Given the description of an element on the screen output the (x, y) to click on. 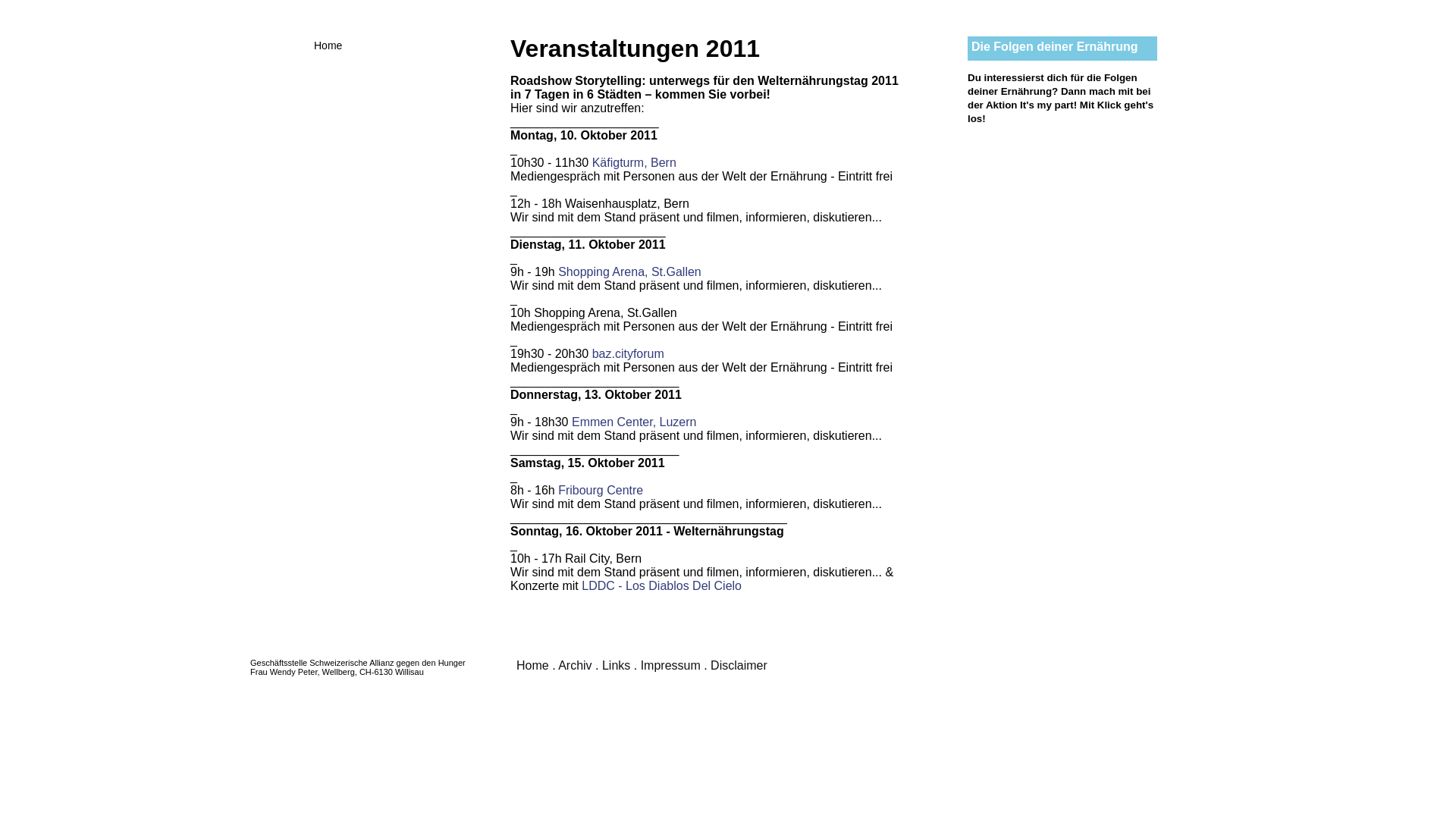
Disclaimer Element type: text (738, 664)
Links Element type: text (616, 664)
Archiv Element type: text (574, 664)
Home Element type: text (393, 45)
Home Element type: text (532, 664)
Emmen Center, Luzern Element type: text (633, 421)
Fribourg Centre Element type: text (600, 489)
, Bern Element type: text (659, 162)
Shopping Arena, St.Gallen Element type: text (629, 271)
LDDC - Los Diablos Del Cielo Element type: text (661, 585)
Impressum Element type: text (670, 664)
baz.cityforum Element type: text (628, 353)
